Given the description of an element on the screen output the (x, y) to click on. 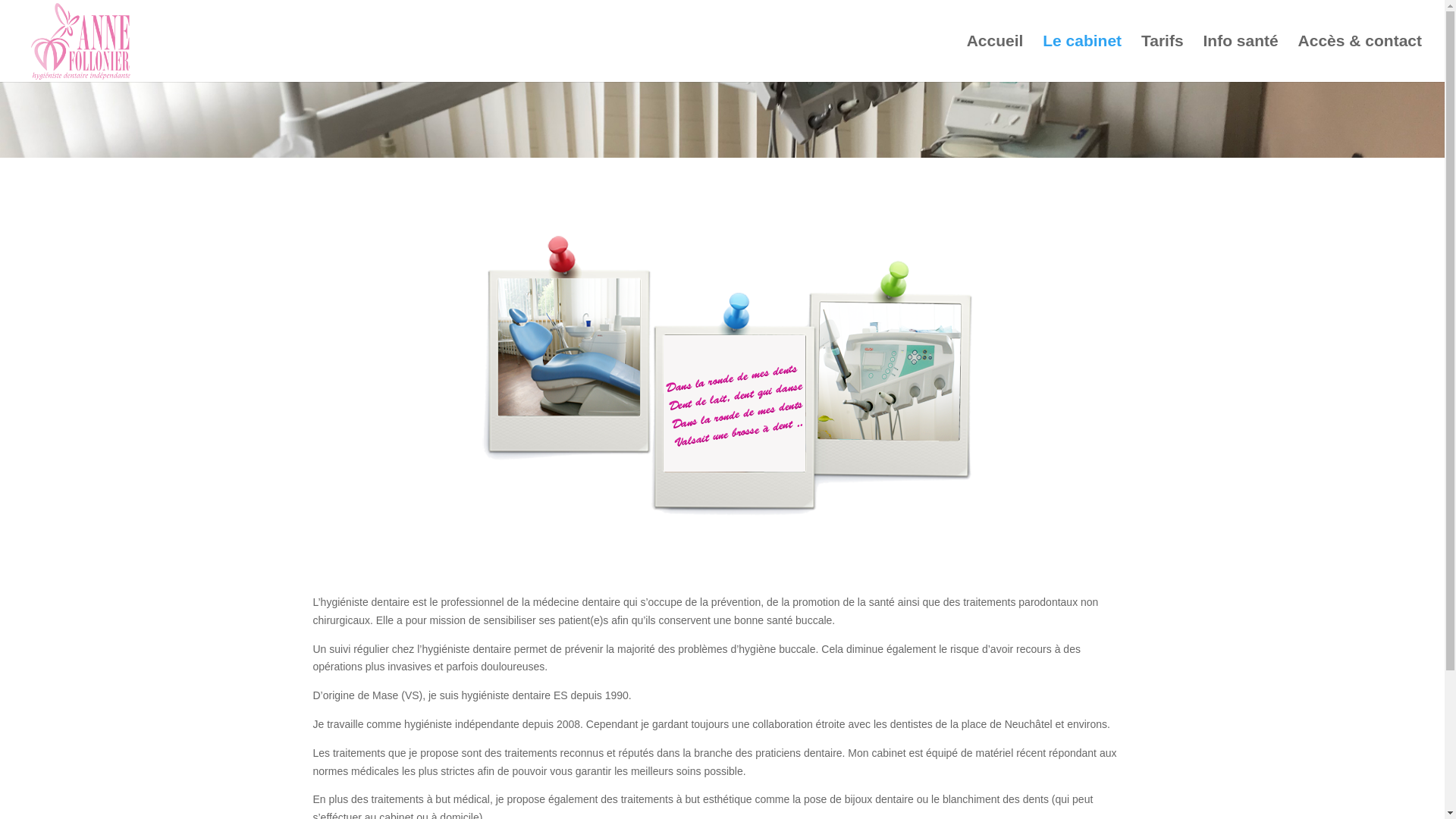
Tarifs Element type: text (1162, 58)
Le cabinet Element type: text (1081, 58)
Accueil Element type: text (994, 58)
